Given the description of an element on the screen output the (x, y) to click on. 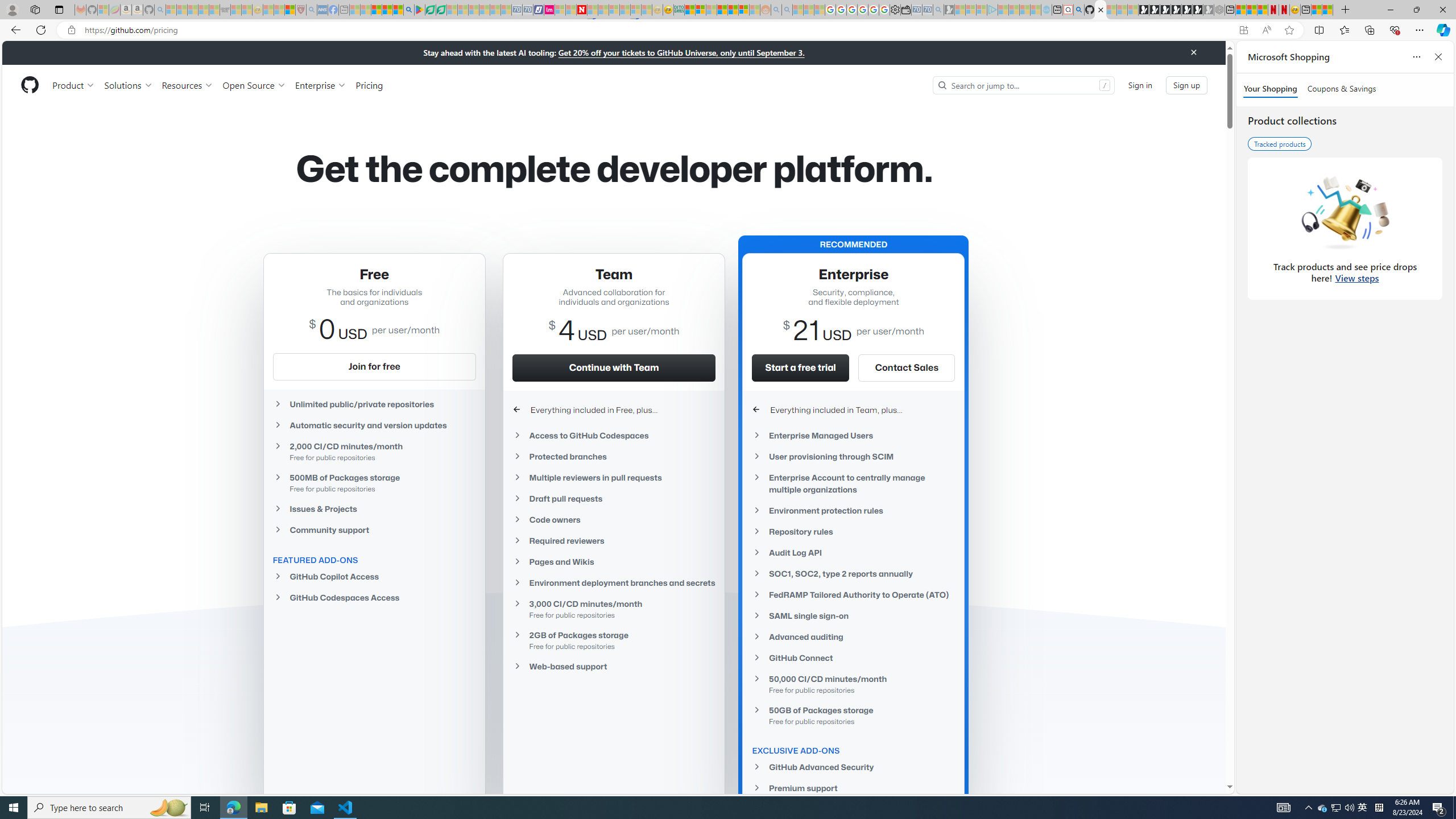
GitHub Copilot Access (374, 576)
Kinda Frugal - MSN (733, 9)
Repository rules (853, 531)
Contact Sales (906, 367)
2,000 CI/CD minutes/monthFree for public repositories (374, 450)
SAML single sign-on (853, 615)
Community support (374, 529)
Local - MSN (289, 9)
